Given the description of an element on the screen output the (x, y) to click on. 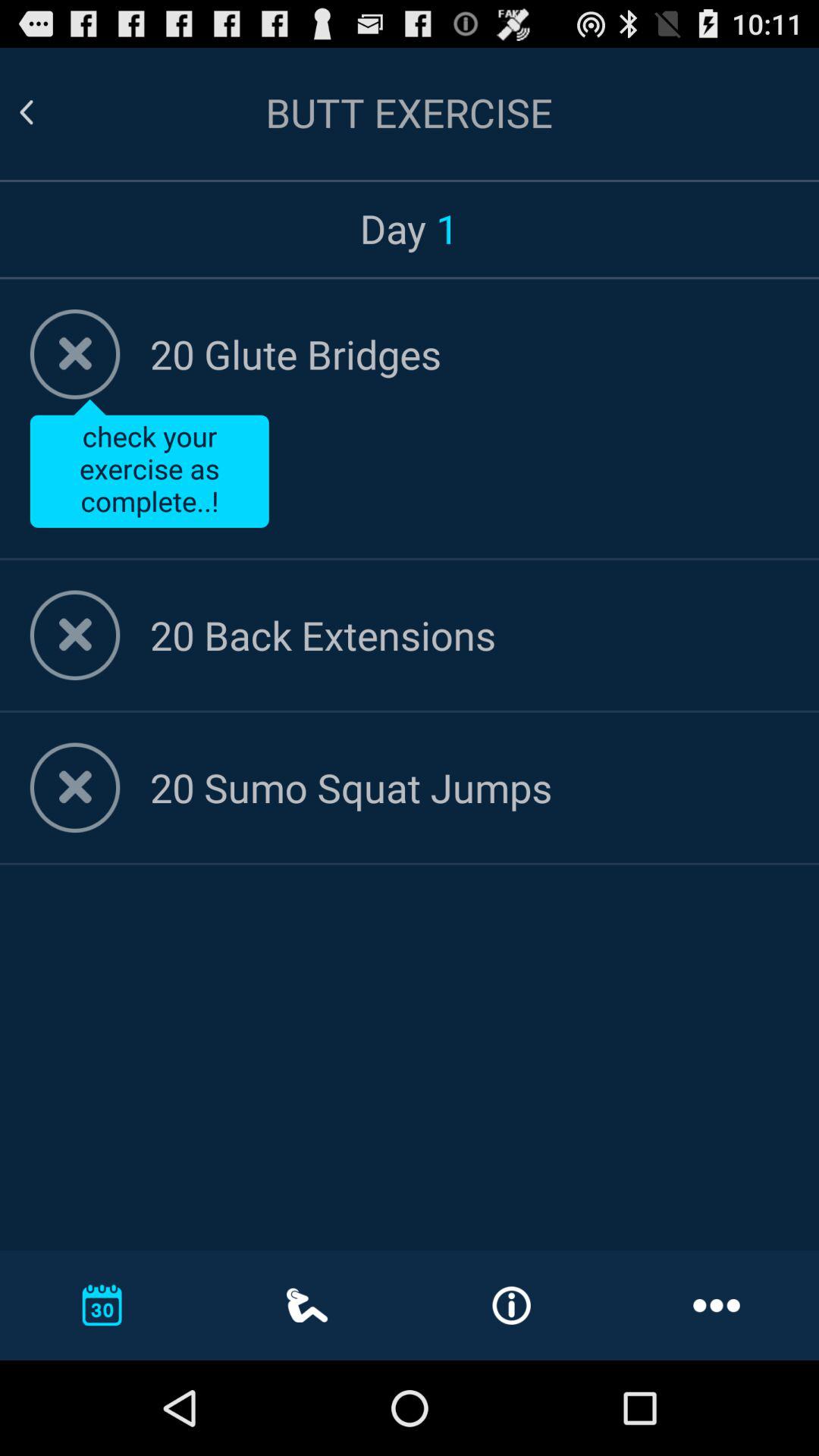
check off exercise (75, 354)
